Given the description of an element on the screen output the (x, y) to click on. 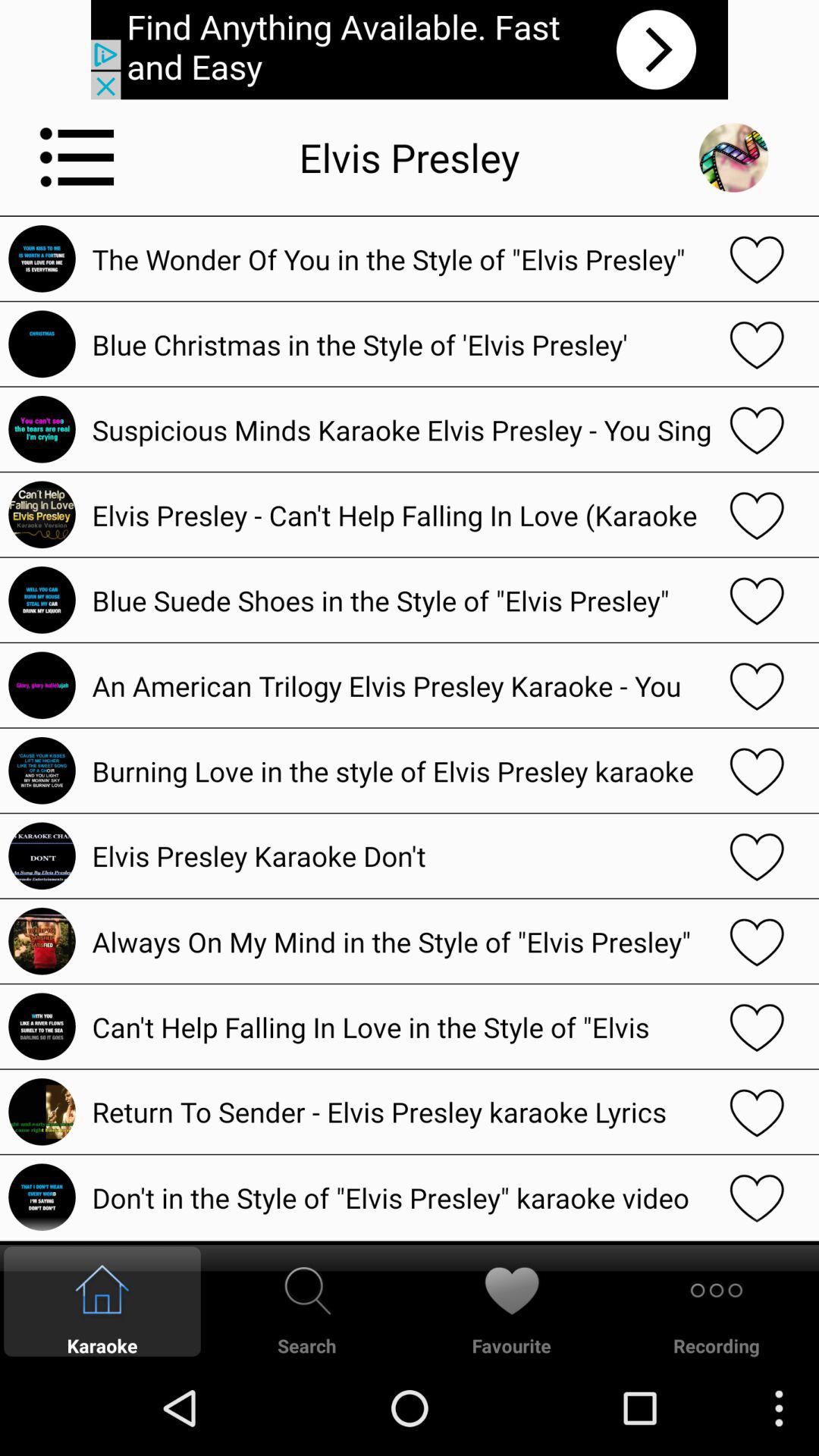
love selection (756, 1197)
